Given the description of an element on the screen output the (x, y) to click on. 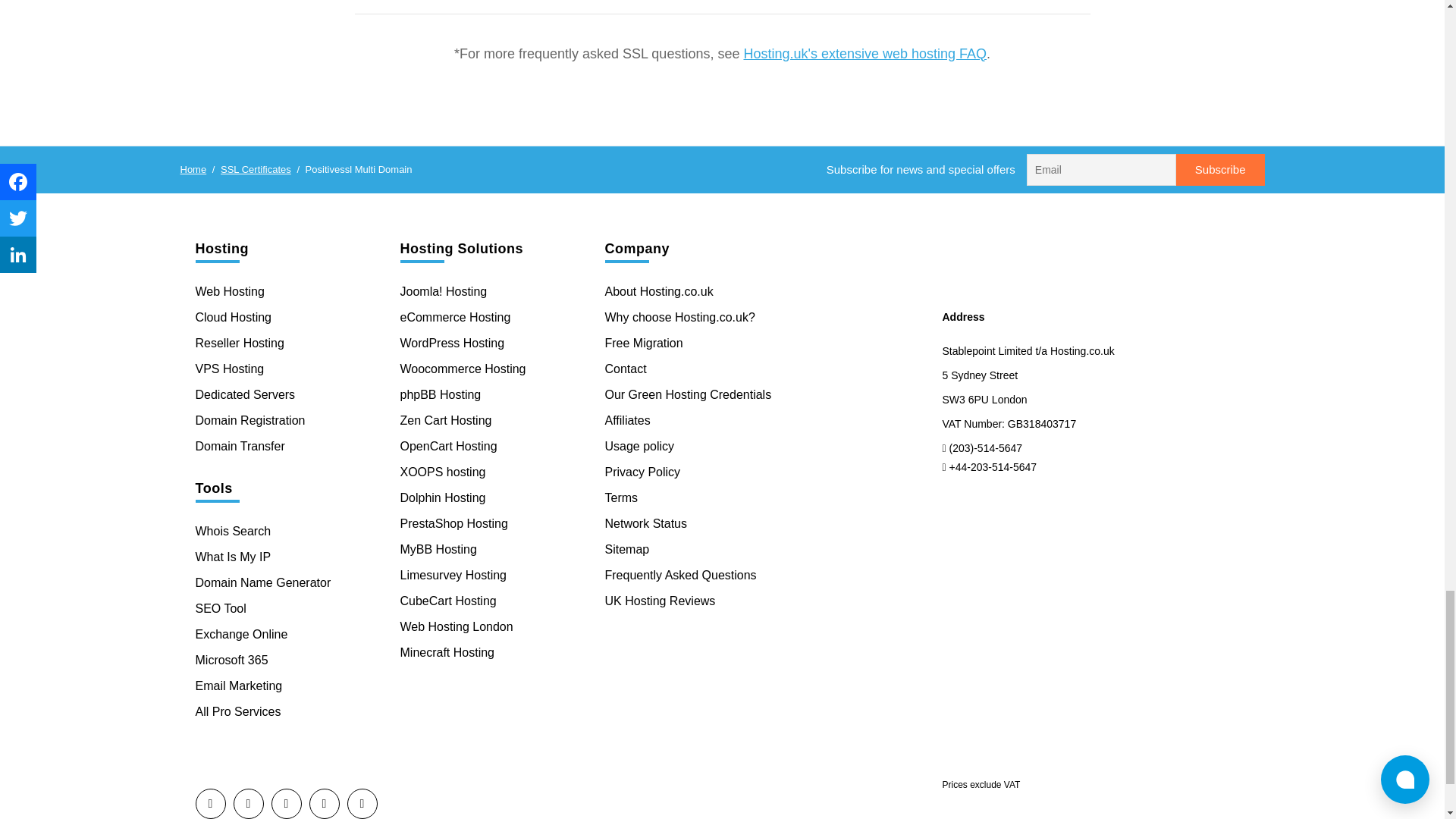
Hosting.uk's extensive web hosting FAQ (864, 53)
Subscribe (1220, 169)
SSL Certificates (256, 169)
Home (193, 169)
